Given the description of an element on the screen output the (x, y) to click on. 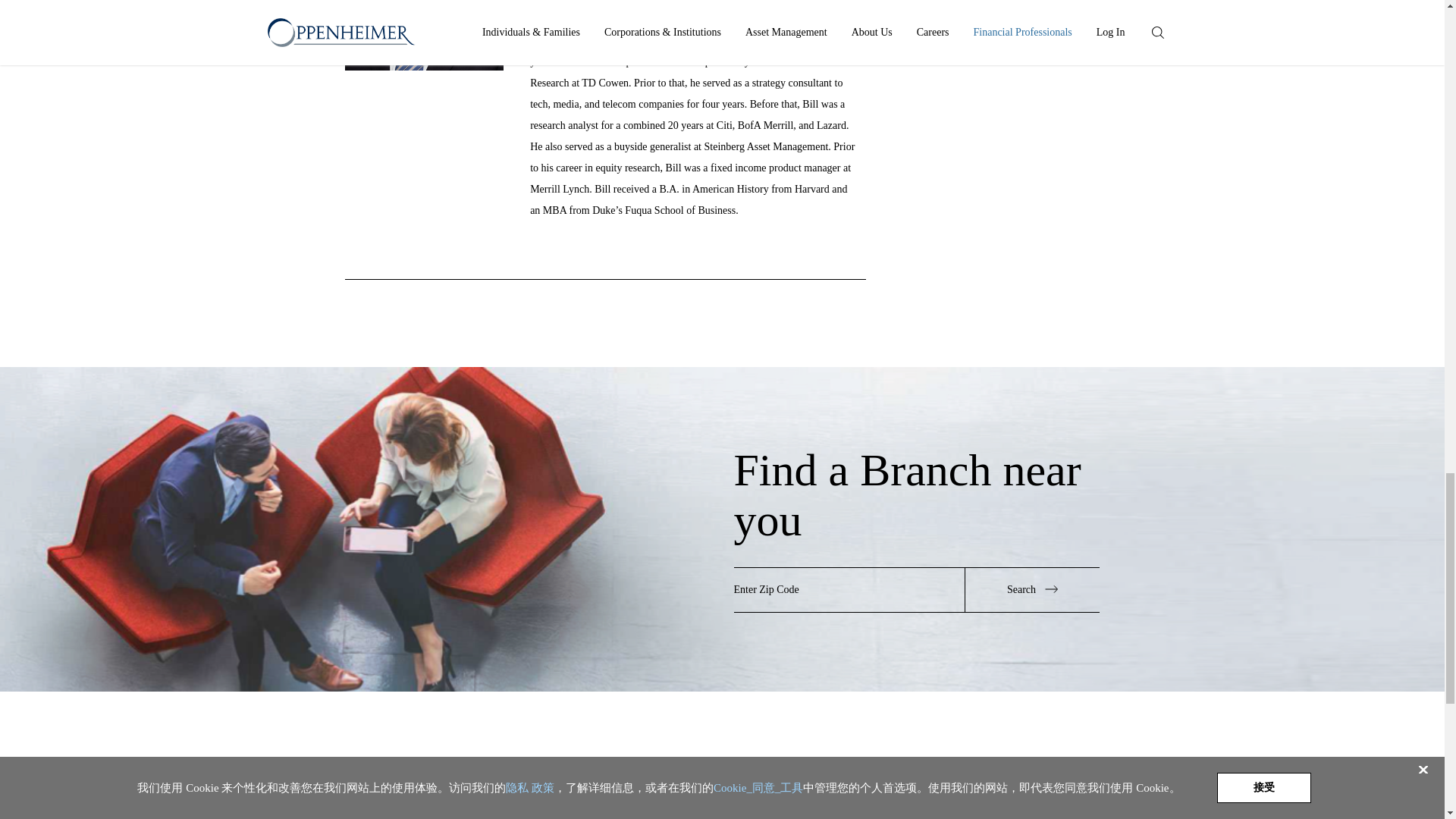
Enter Zip Code (849, 589)
